Given the description of an element on the screen output the (x, y) to click on. 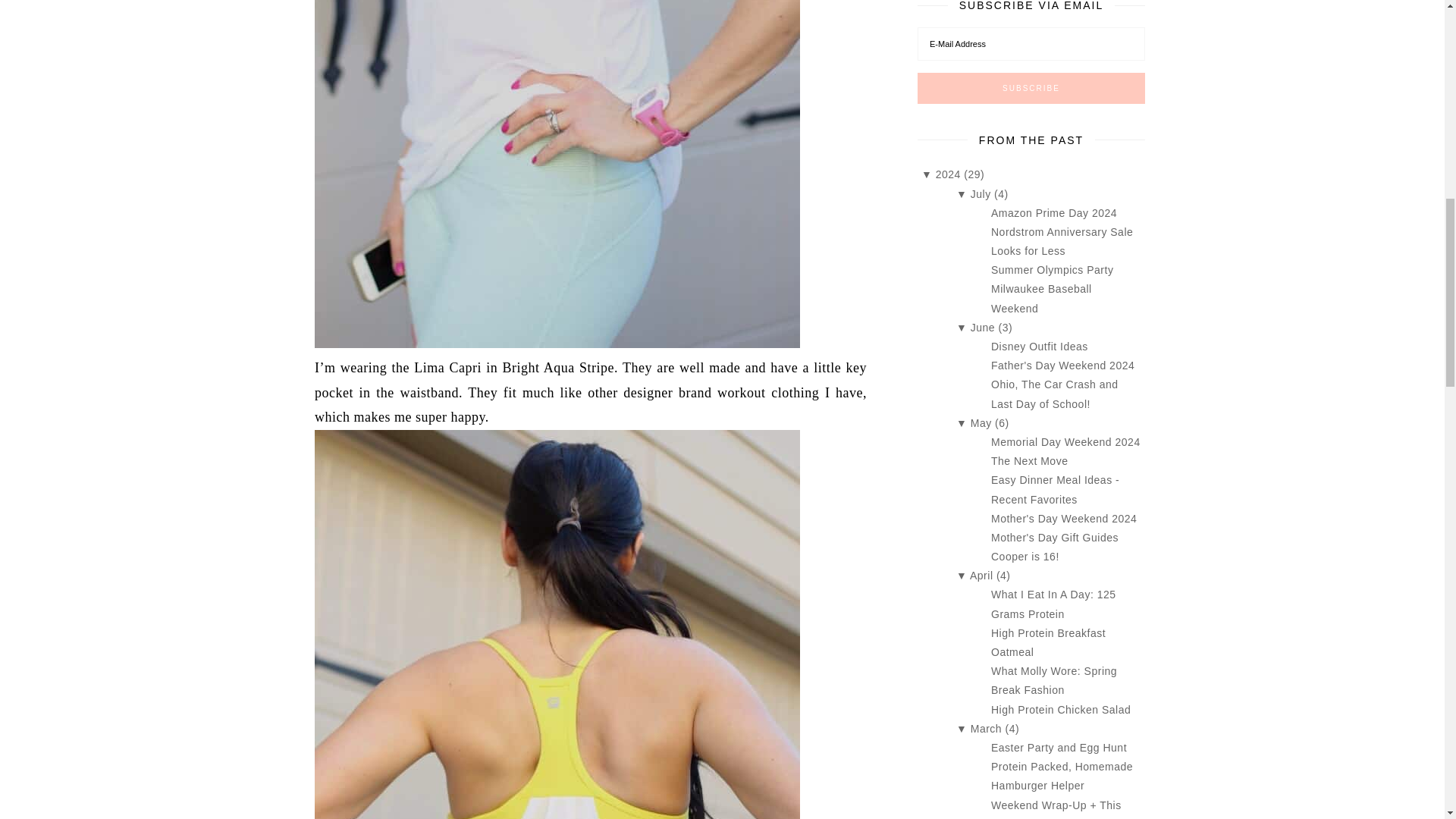
June (983, 327)
Subscribe (1030, 88)
Ohio, The Car Crash and Last Day of School! (1054, 393)
July (982, 193)
Summer Olympics Party (1052, 269)
Easy Dinner Meal Ideas - Recent Favorites (1055, 489)
Disney Outfit Ideas (1039, 346)
Mother's Day Weekend 2024 (1064, 518)
Memorial Day Weekend 2024 (1065, 441)
Milwaukee Baseball Weekend (1041, 297)
